Given the description of an element on the screen output the (x, y) to click on. 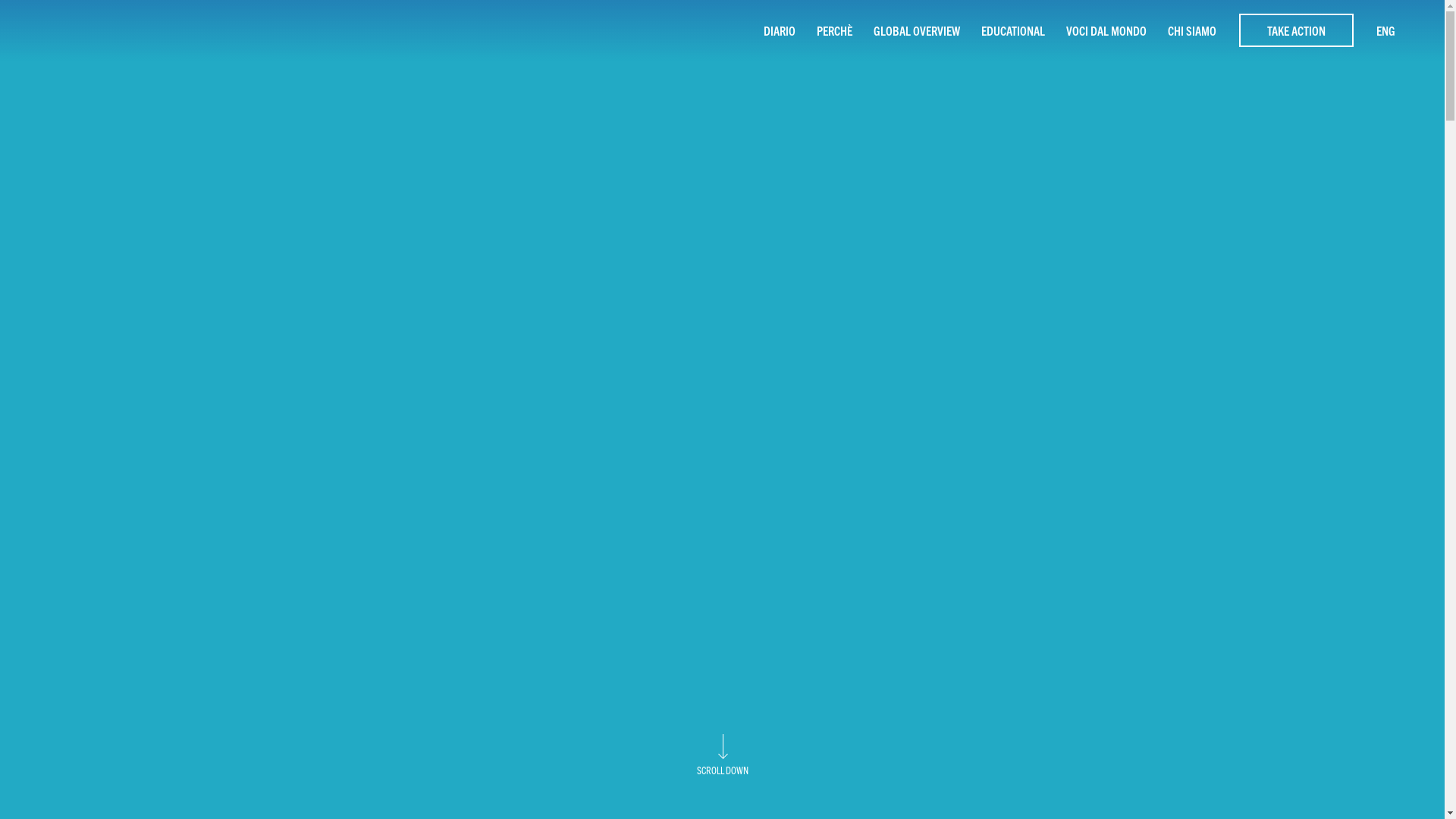
homepage - 10 Rivers 1 Ocean Element type: hover (87, 30)
VOCI DAL MONDO Element type: text (1106, 29)
GLOBAL OVERVIEW Element type: text (916, 29)
DIARIO Element type: text (779, 29)
TAKE ACTION Element type: text (1296, 30)
CHI SIAMO Element type: text (1191, 29)
ENG Element type: text (1385, 29)
EDUCATIONAL Element type: text (1012, 29)
